Given the description of an element on the screen output the (x, y) to click on. 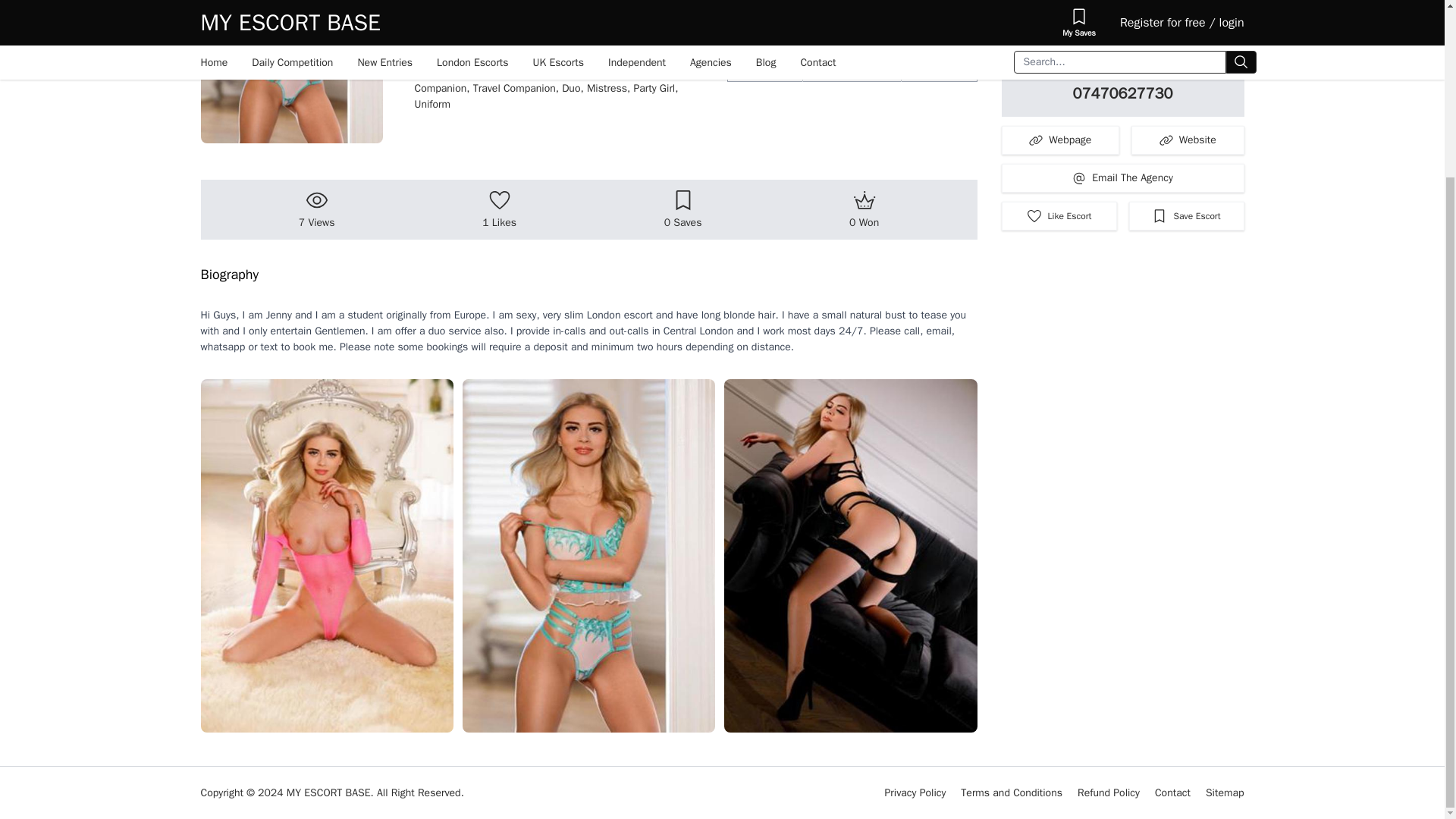
Watch Video (1122, 23)
Party Girl (655, 88)
Mistress (609, 88)
Domination (614, 72)
Sitemap (1224, 792)
Events Companion (543, 80)
Duo (574, 88)
Contact (1172, 792)
Privacy Policy (915, 792)
Save Escort (1185, 215)
